Given the description of an element on the screen output the (x, y) to click on. 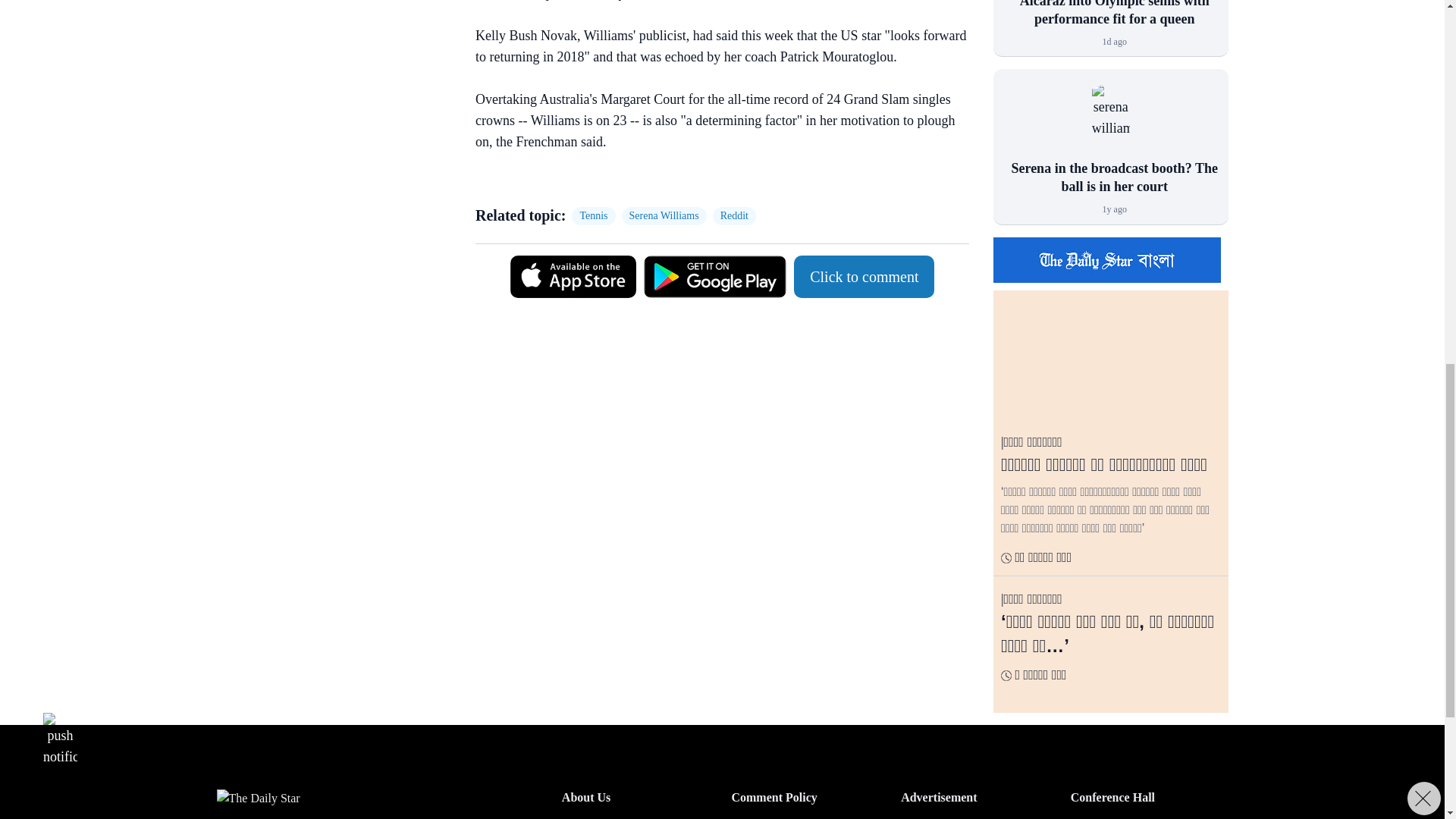
serena williams (1110, 121)
